Given the description of an element on the screen output the (x, y) to click on. 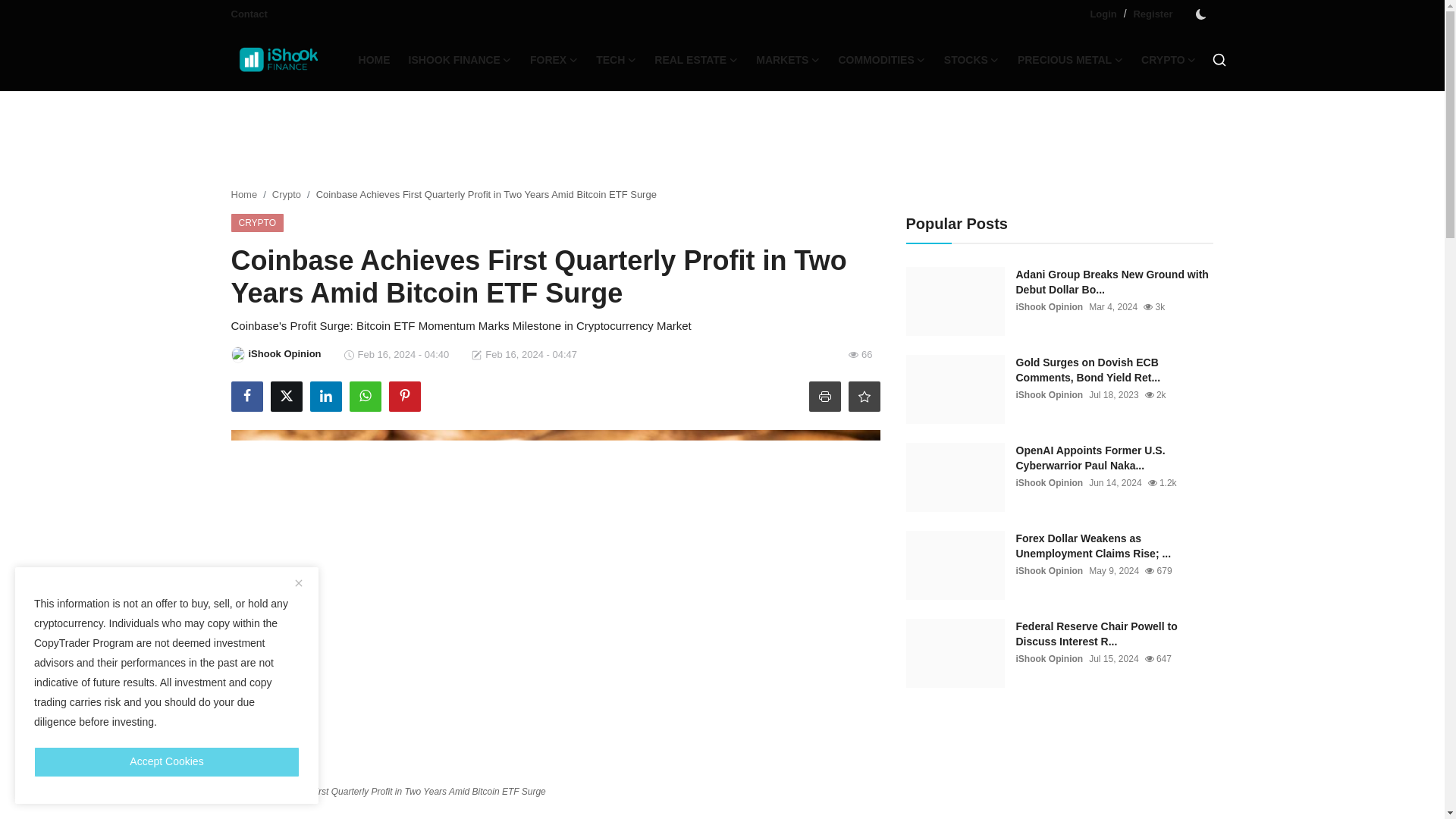
Register (1152, 14)
Add to Reading List (863, 396)
CRYPTO (1168, 59)
Contact (248, 14)
ISHOOK FINANCE (459, 59)
PRECIOUS METAL (1070, 59)
FOREX (553, 59)
dark (1200, 14)
STOCKS (971, 59)
REAL ESTATE (695, 59)
